Given the description of an element on the screen output the (x, y) to click on. 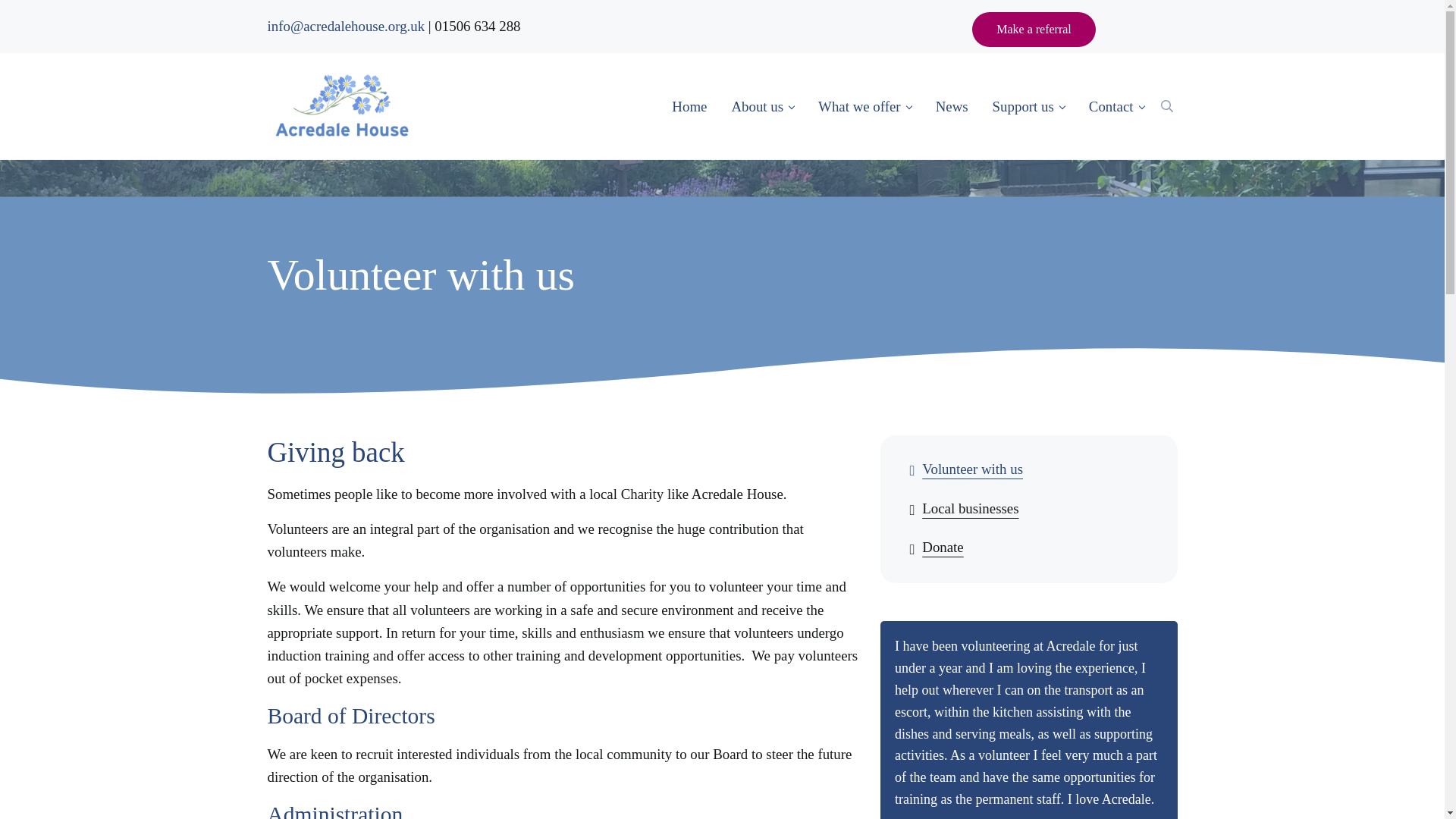
Local businesses (1028, 509)
News (951, 106)
About us (762, 106)
Volunteer with us (1028, 469)
Home (689, 106)
Contact (1116, 106)
Donate (1028, 548)
Make a referral (1034, 29)
What we offer (864, 106)
Support us (1028, 106)
